Given the description of an element on the screen output the (x, y) to click on. 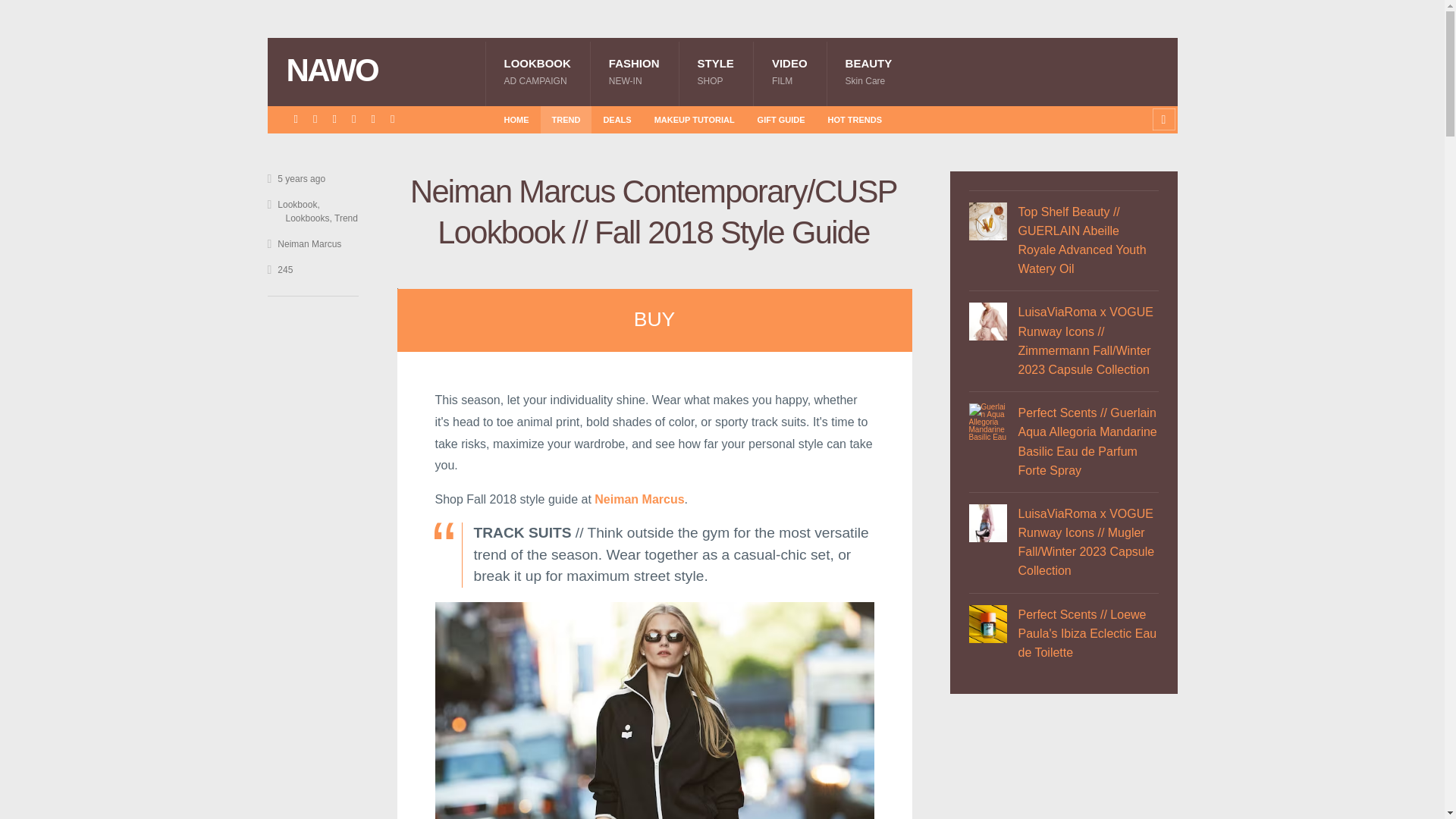
Neiman Marcus (639, 499)
TREND (633, 71)
NAWO (869, 71)
HOT TRENDS (536, 71)
GIFT GUIDE (565, 119)
